Given the description of an element on the screen output the (x, y) to click on. 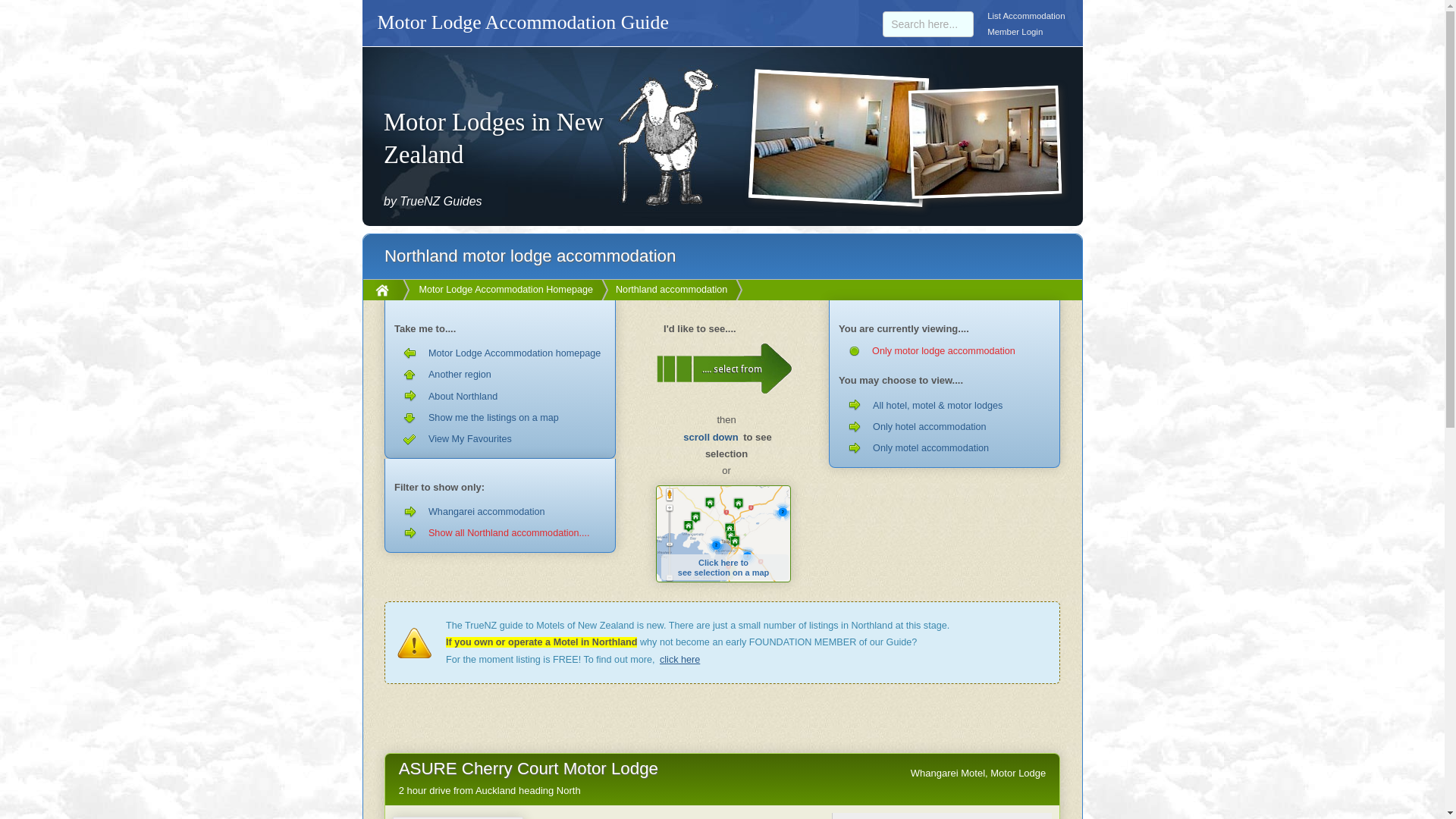
Motor Lodge Accommodation homepage (500, 353)
Another region (500, 373)
Whangarei accommodation (723, 533)
About Northland (500, 511)
click here (500, 396)
Show me the listings on a map (679, 659)
Search here... (500, 417)
Only hotel accommodation (928, 23)
Only motel accommodation (944, 426)
Show all Northland accommodation.... (944, 447)
scroll down (500, 532)
Member Login (710, 437)
View My Favourites (1015, 31)
